Given the description of an element on the screen output the (x, y) to click on. 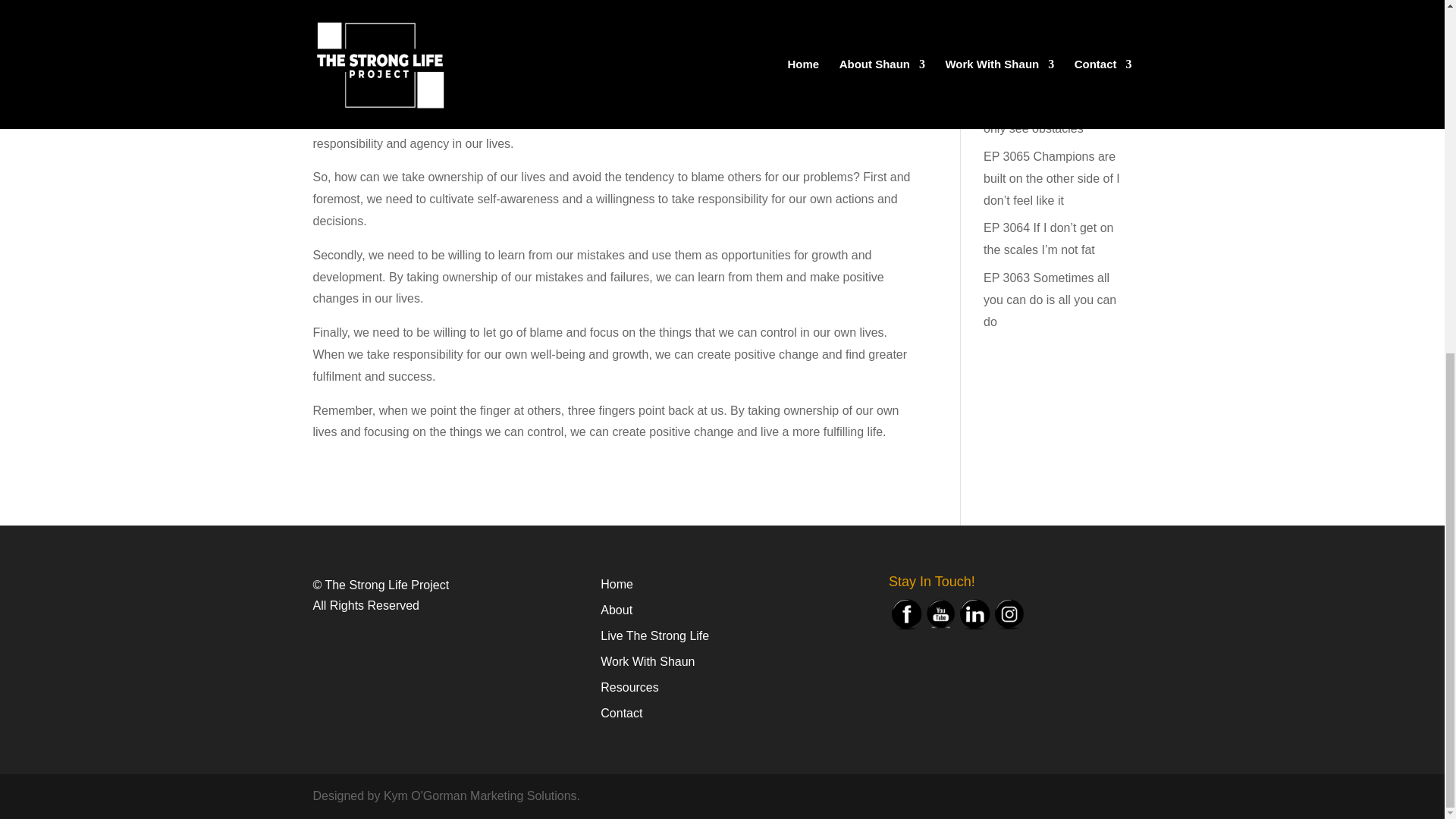
RSS (386, 65)
Resources (628, 686)
Live The Strong Life (654, 635)
Work With Shaun (646, 661)
Download (505, 30)
Facebook (906, 613)
Subscribe via RSS (386, 65)
Play in new window (415, 30)
About (615, 609)
Download (505, 30)
